Given the description of an element on the screen output the (x, y) to click on. 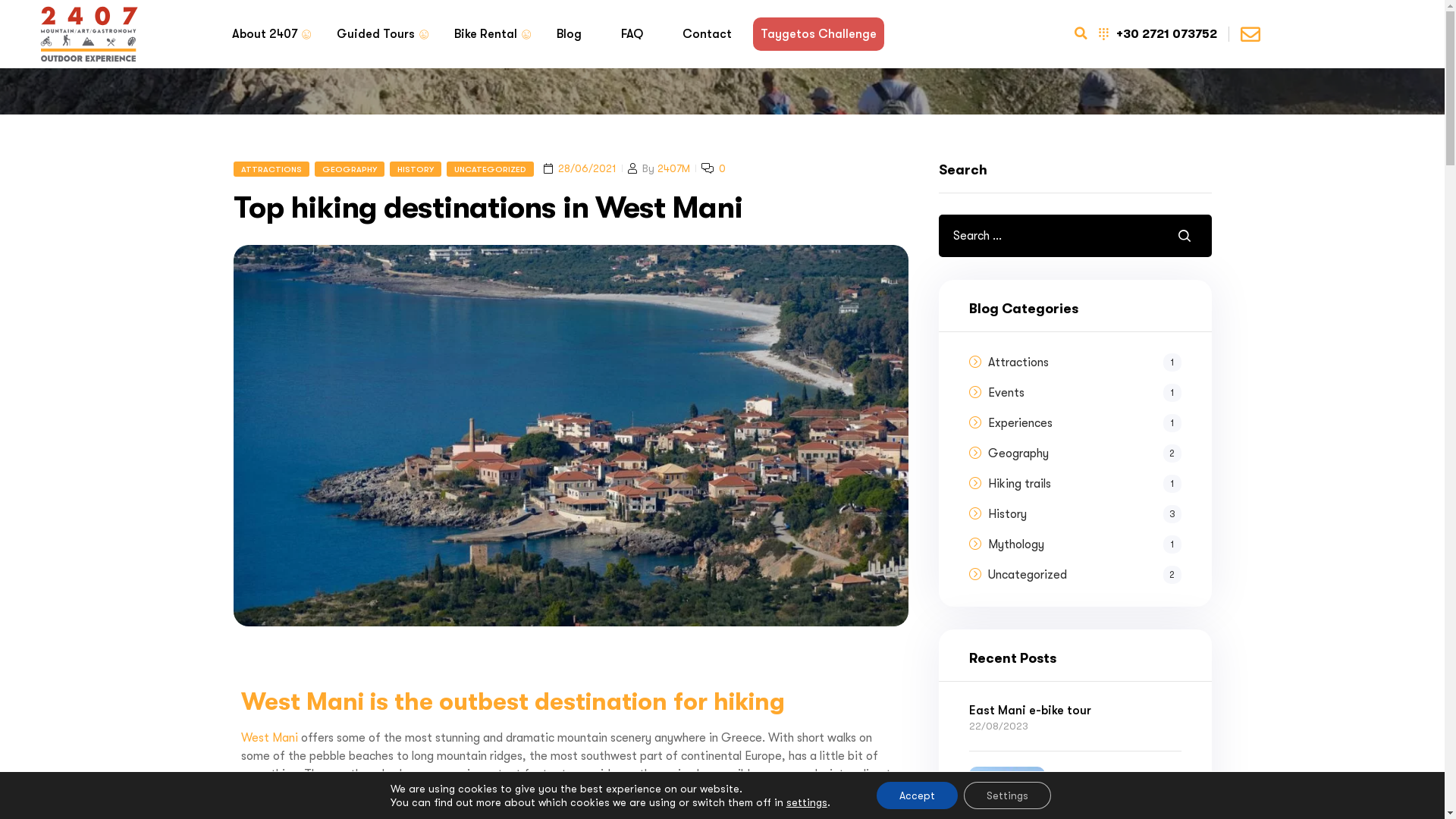
Hiking trails
1 Element type: text (1084, 483)
ATTRACTIONS Element type: text (271, 168)
Search Element type: text (1181, 235)
UNCATEGORIZED Element type: text (489, 168)
About 2407 Element type: text (264, 33)
Mythology
1 Element type: text (1084, 544)
Events
1 Element type: text (1084, 392)
Accept Element type: text (916, 795)
Attractions
1 Element type: text (1084, 362)
GEOGRAPHY Element type: text (348, 168)
Geography
2 Element type: text (1084, 453)
FAQ Element type: text (631, 33)
East Mani e-bike tour Element type: text (1075, 710)
Uncategorized
2 Element type: text (1084, 574)
2407M Element type: text (672, 168)
West Mani Element type: text (269, 737)
Blog Element type: text (568, 33)
Bicycle and e-bike rental in Kardamyli Element type: text (1120, 796)
Settings Element type: text (1007, 795)
HISTORY Element type: text (415, 168)
Guided Tours Element type: text (375, 33)
Contact Element type: text (706, 33)
Bike Rental Element type: text (484, 33)
Experiences
1 Element type: text (1084, 423)
settings Element type: text (806, 802)
Taygetos Challenge Element type: text (817, 33)
+30 2721 073752 Element type: text (1157, 34)
0 Element type: text (721, 168)
History
3 Element type: text (1084, 514)
28/06/2021 Element type: text (587, 168)
